Given the description of an element on the screen output the (x, y) to click on. 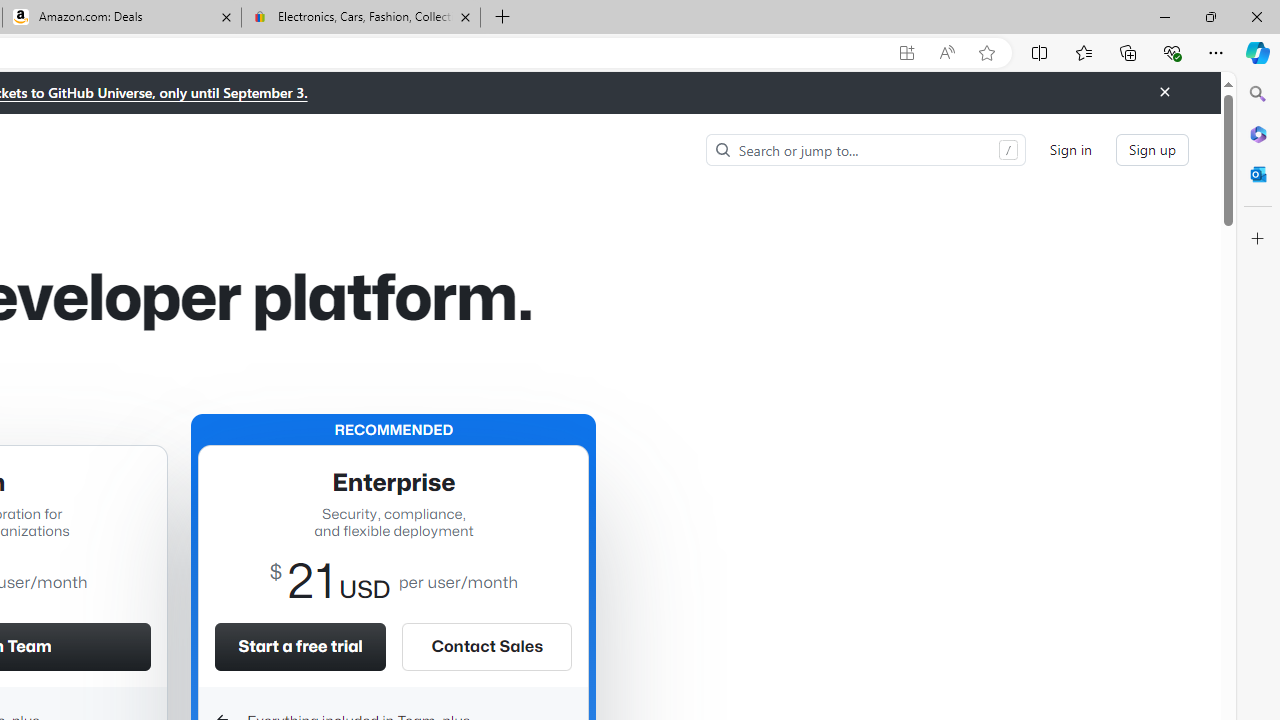
Sign up (1152, 149)
Start a free trial (300, 646)
App available. Install GitHub (906, 53)
